Given the description of an element on the screen output the (x, y) to click on. 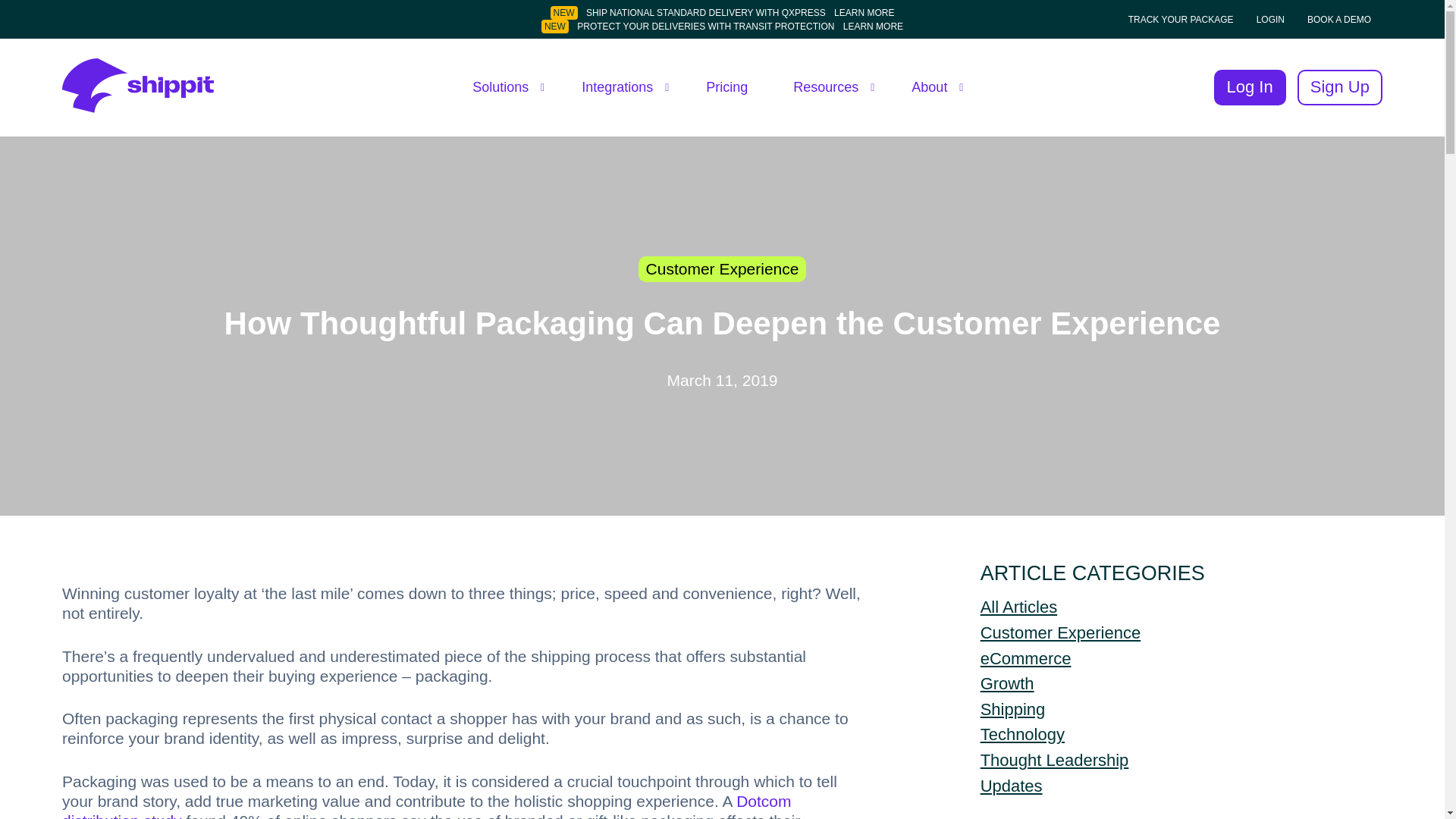
LEARN MORE (872, 26)
Dotcom distribution study (427, 805)
About (932, 87)
LOGIN (1270, 19)
TRACK YOUR PACKAGE (1180, 19)
BOOK A DEMO (1338, 19)
Sign Up (1339, 87)
Solutions (504, 87)
Pricing (726, 87)
Log In (1249, 87)
Integrations (620, 87)
Resources (829, 87)
LEARN MORE (863, 12)
